Given the description of an element on the screen output the (x, y) to click on. 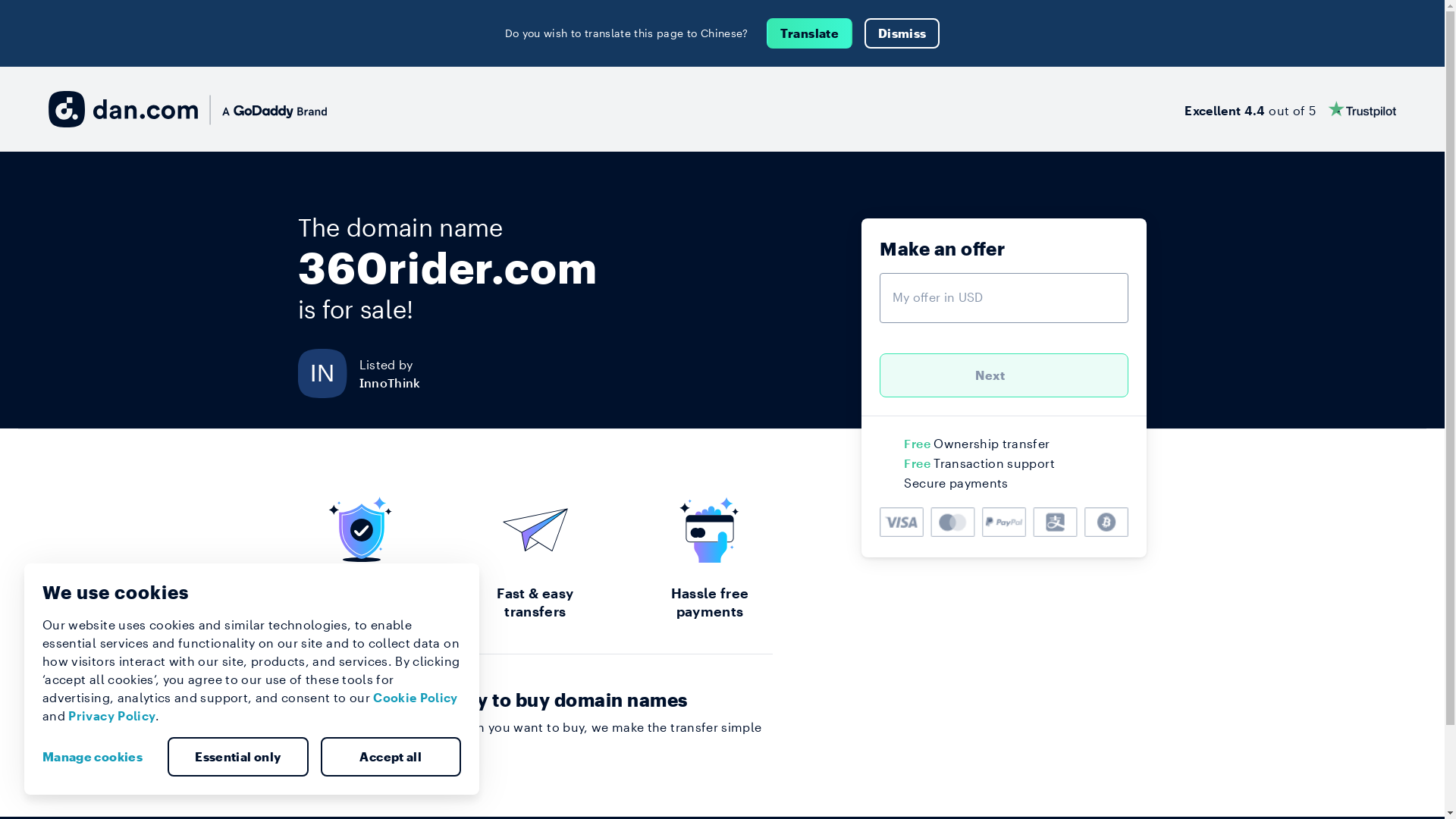
Accept all Element type: text (390, 756)
Cookie Policy Element type: text (415, 697)
Essential only Element type: text (237, 756)
Next
) Element type: text (1003, 375)
Dismiss Element type: text (901, 33)
Manage cookies Element type: text (98, 756)
Privacy Policy Element type: text (111, 715)
Translate Element type: text (809, 33)
Excellent 4.4 out of 5 Element type: text (1290, 109)
